Given the description of an element on the screen output the (x, y) to click on. 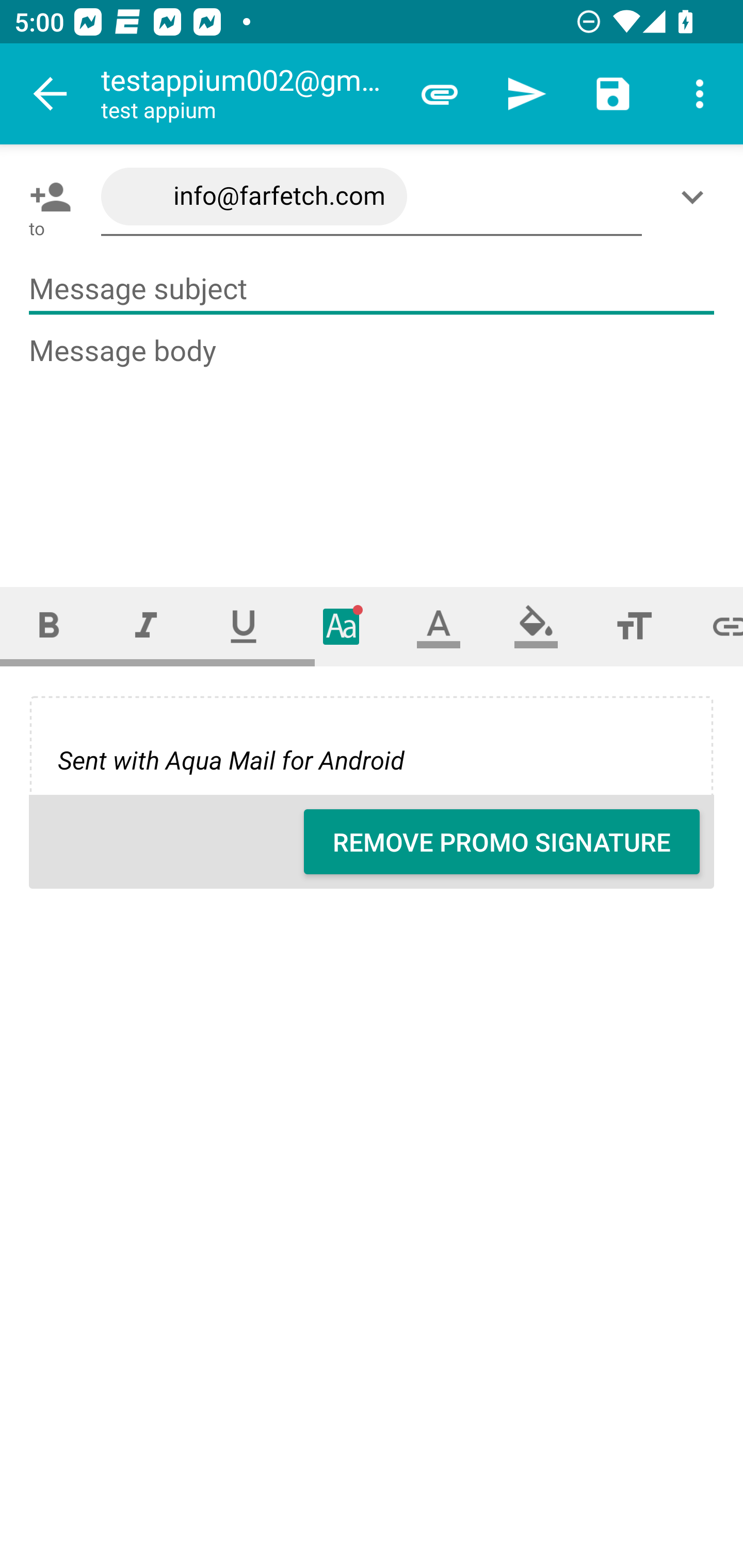
Navigate up (50, 93)
testappium002@gmail.com test appium (248, 93)
Attach (439, 93)
Send (525, 93)
Save (612, 93)
More options (699, 93)
info@farfetch.com,  (371, 197)
Pick contact: To (46, 196)
Show/Add CC/BCC (696, 196)
Message subject (371, 288)
Message body (372, 442)
Bold (48, 626)
Italic (145, 626)
Underline (243, 626)
Typeface (font) (341, 626)
Text color (438, 626)
Fill color (536, 626)
Font size (633, 626)
Set link (712, 626)
REMOVE PROMO SIGNATURE (501, 841)
